Given the description of an element on the screen output the (x, y) to click on. 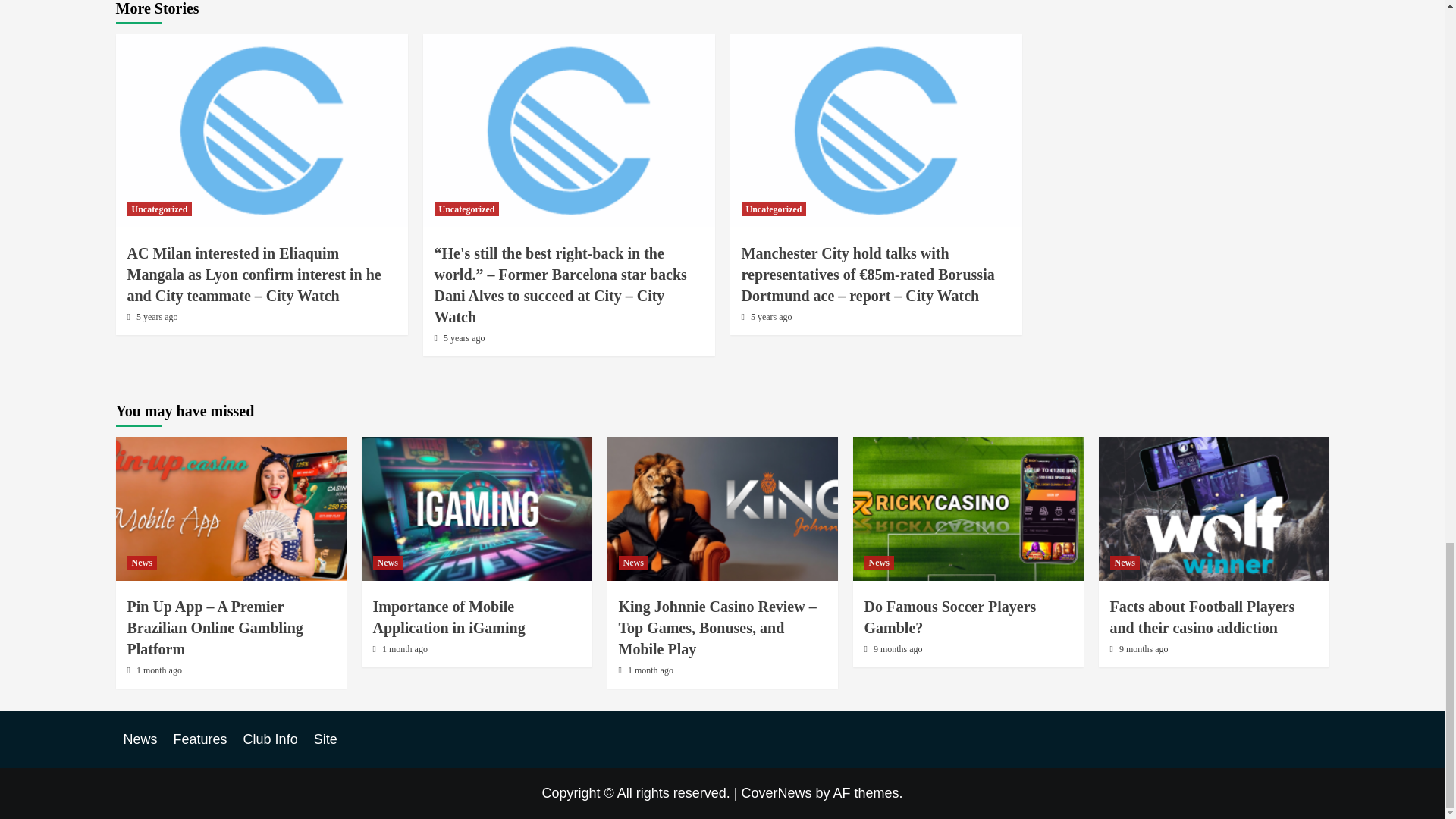
5 years ago (156, 317)
Uncategorized (160, 209)
